Given the description of an element on the screen output the (x, y) to click on. 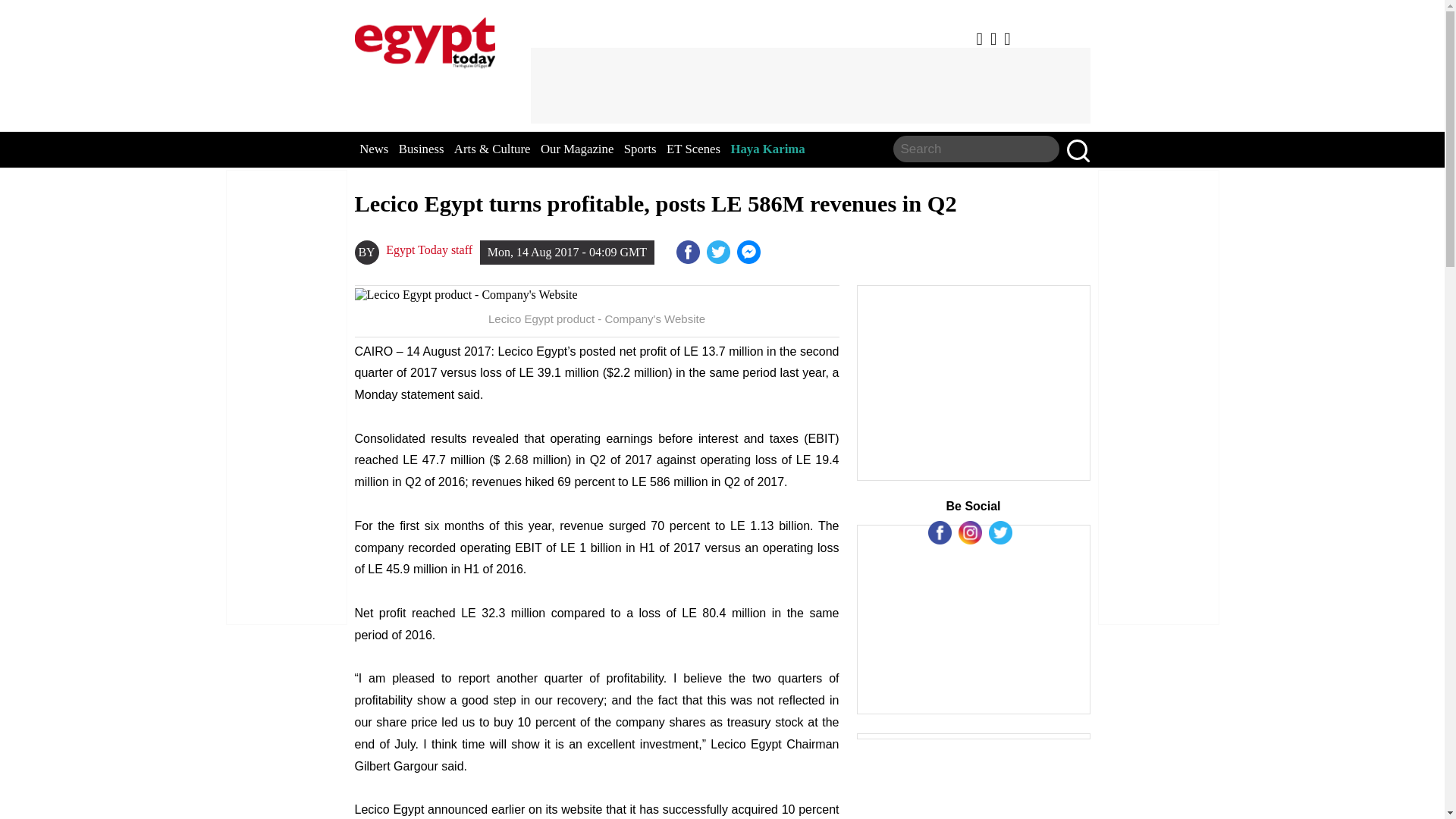
ET Scenes (693, 149)
Our Magazine (576, 149)
Haya Karima (767, 149)
Egypt Today staff (428, 250)
Sports (640, 149)
Sisi heads to Guinea first destination in overseas tour (749, 251)
Business (421, 149)
EgyptToday (597, 295)
